Given the description of an element on the screen output the (x, y) to click on. 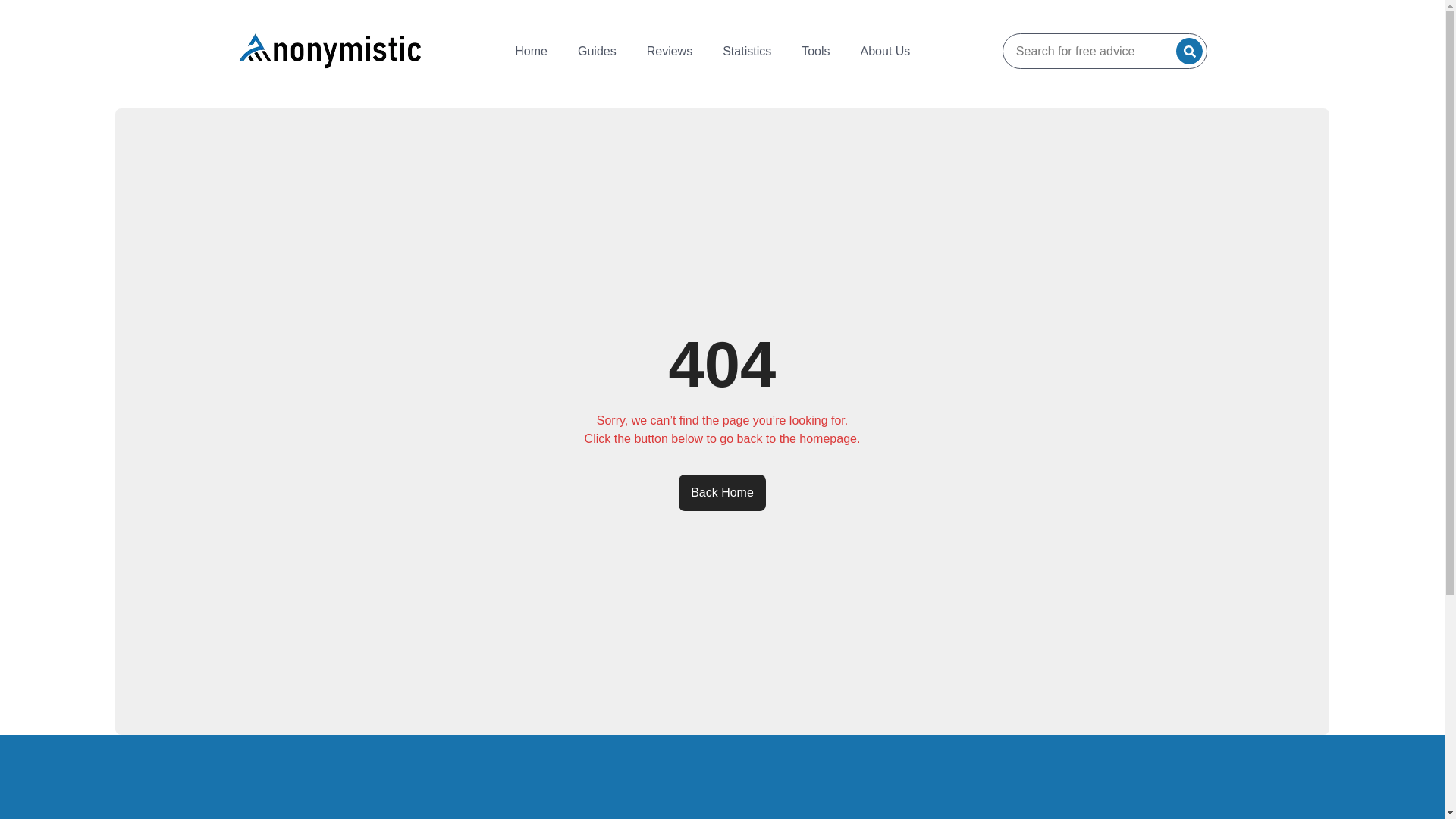
Tools (815, 50)
Home (530, 50)
Guides (596, 50)
Statistics (746, 50)
Reviews (669, 50)
About Us (885, 50)
